Given the description of an element on the screen output the (x, y) to click on. 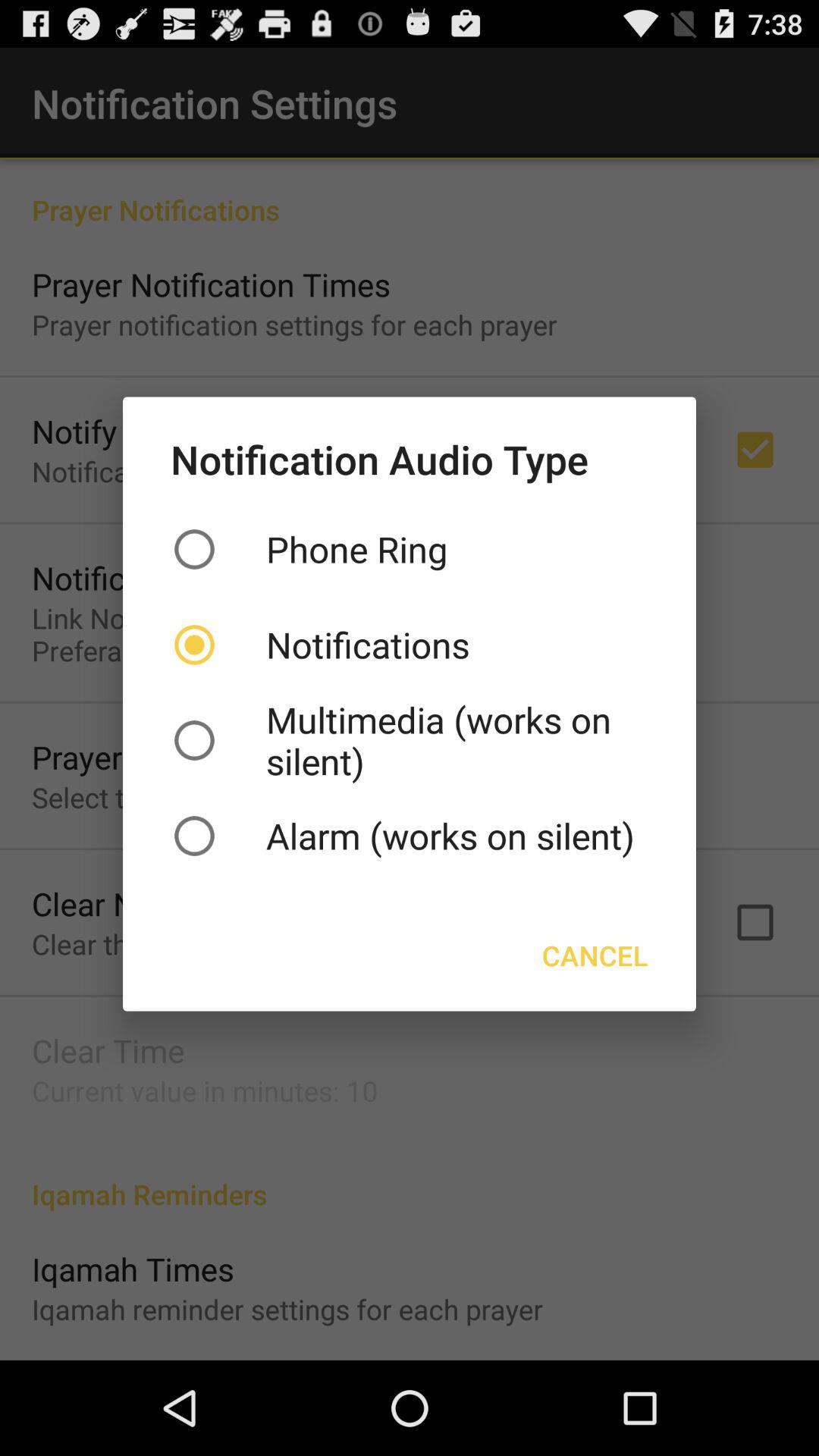
choose the button on the right (595, 955)
